Given the description of an element on the screen output the (x, y) to click on. 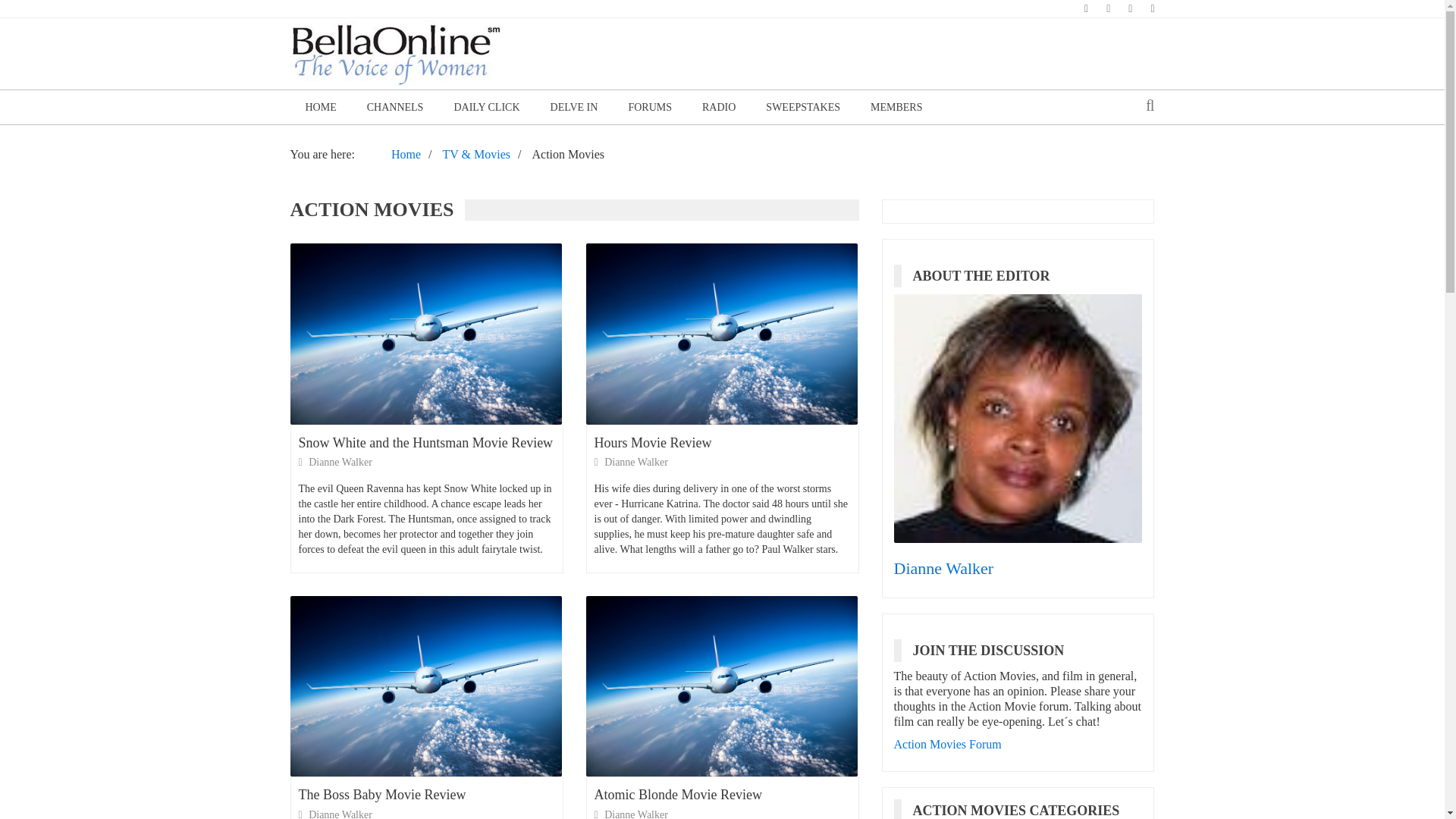
HOME (319, 107)
CHANNELS (395, 107)
RADIO (719, 107)
FORUMS (649, 107)
SWEEPSTAKES (803, 107)
DELVE IN (573, 107)
DAILY CLICK (486, 107)
